Given the description of an element on the screen output the (x, y) to click on. 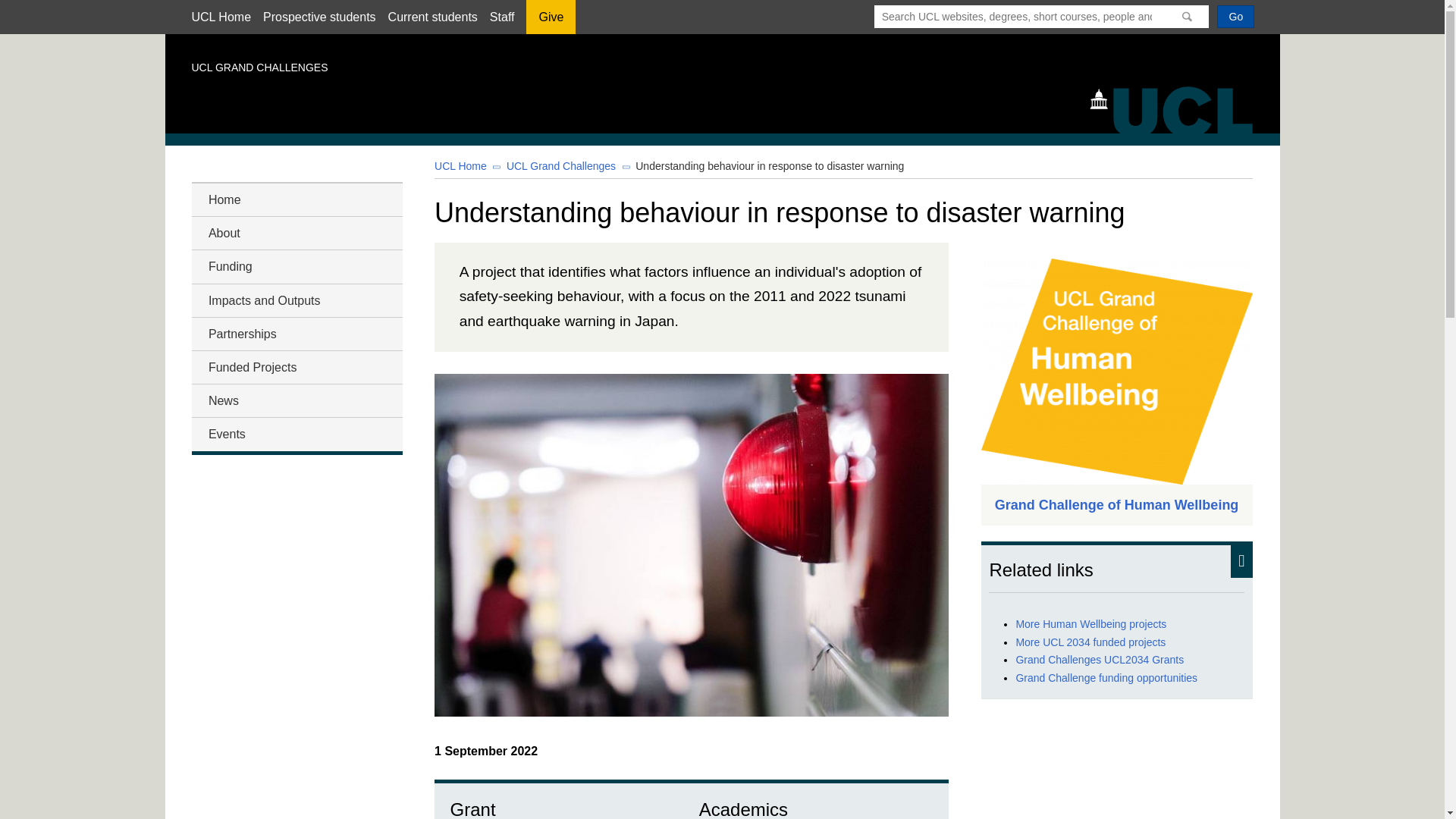
Understanding behaviour in response to disaster warning (769, 165)
Funding (296, 266)
Staff (502, 16)
News (296, 400)
Go (1235, 15)
UCL Home (220, 16)
Funded Projects (296, 367)
Events (296, 434)
Current students (432, 16)
Give (550, 22)
Prospective students (319, 16)
Impacts and Outputs (296, 300)
Partnerships (296, 333)
Home (296, 199)
Grand Challenges Events (296, 434)
